Given the description of an element on the screen output the (x, y) to click on. 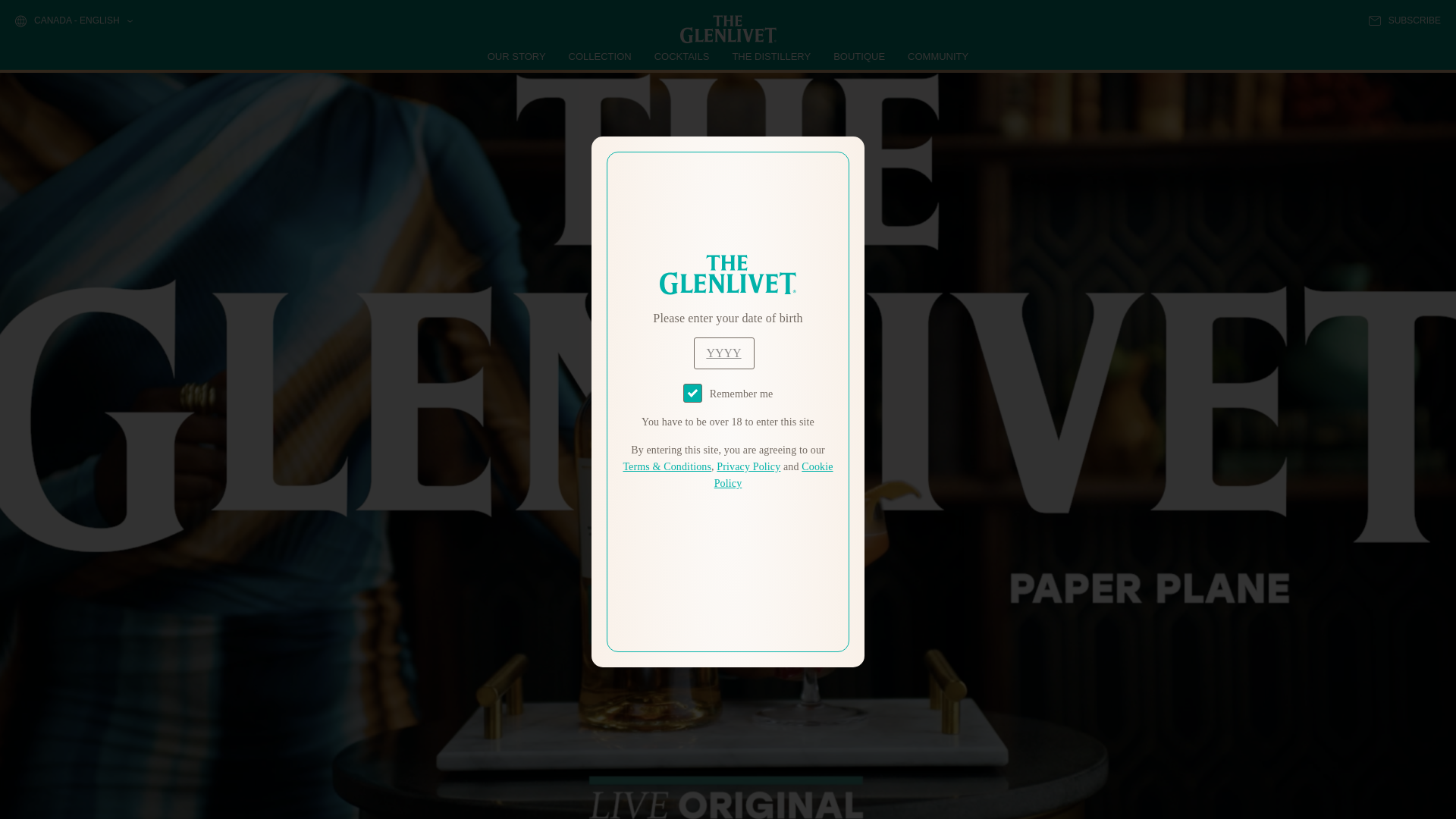
COCKTAILS (681, 56)
COMMUNITY (937, 56)
year (723, 353)
CANADA - ENGLISH (73, 21)
SUBSCRIBE (1404, 20)
Cookie Policy (773, 474)
COLLECTION (600, 56)
Privacy Policy (748, 466)
OUR STORY (516, 56)
BOUTIQUE (858, 56)
